Given the description of an element on the screen output the (x, y) to click on. 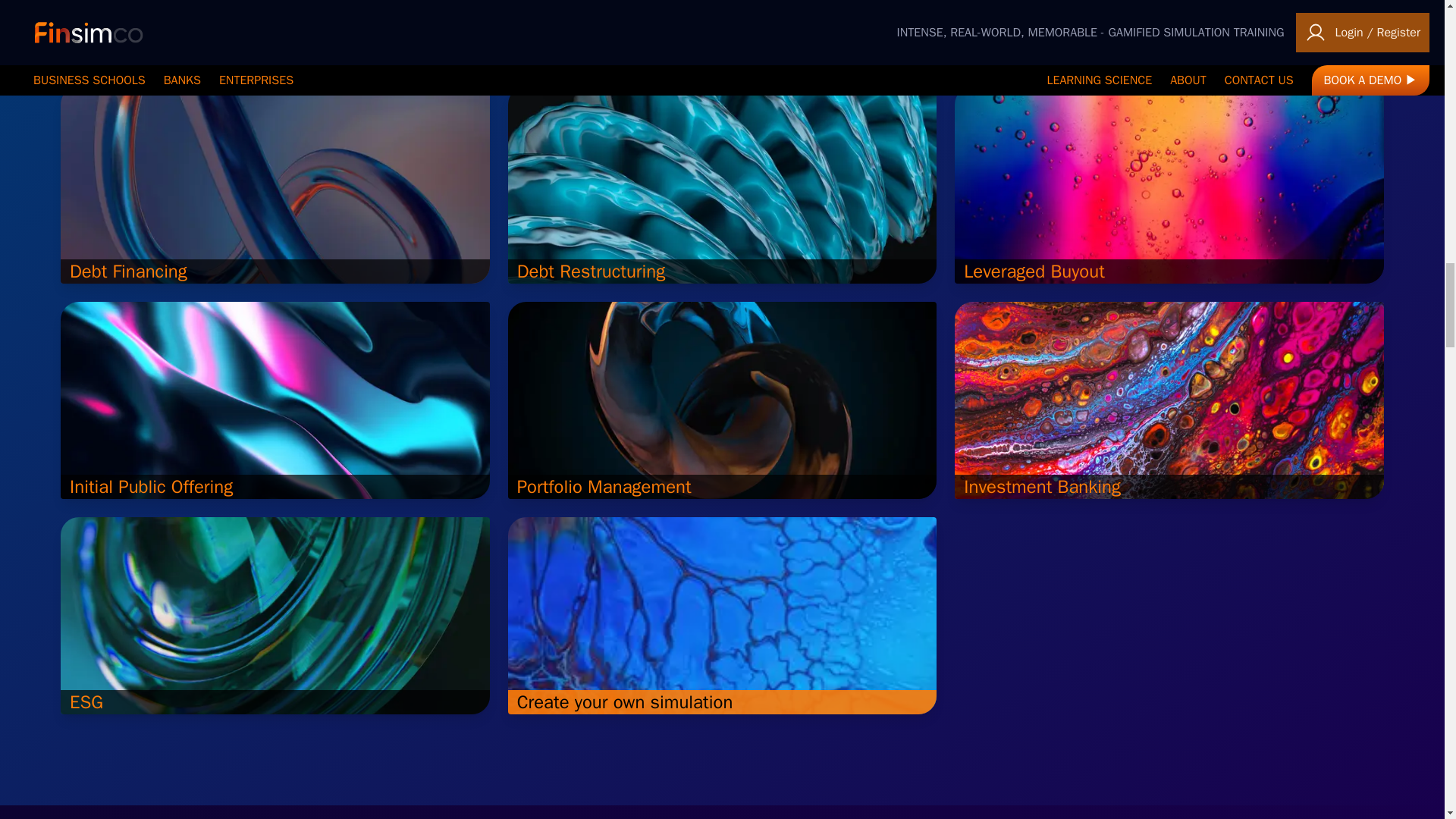
Startup Creation (275, 33)
Debt Financing (275, 184)
Leveraged Buyout (1169, 184)
Create your own simulation (722, 615)
ESG (275, 615)
Introduction to Finance (1169, 33)
Portfolio Management (722, 400)
Debt Restructuring (722, 184)
Startup Funding (722, 33)
Initial Public Offering (275, 400)
